Given the description of an element on the screen output the (x, y) to click on. 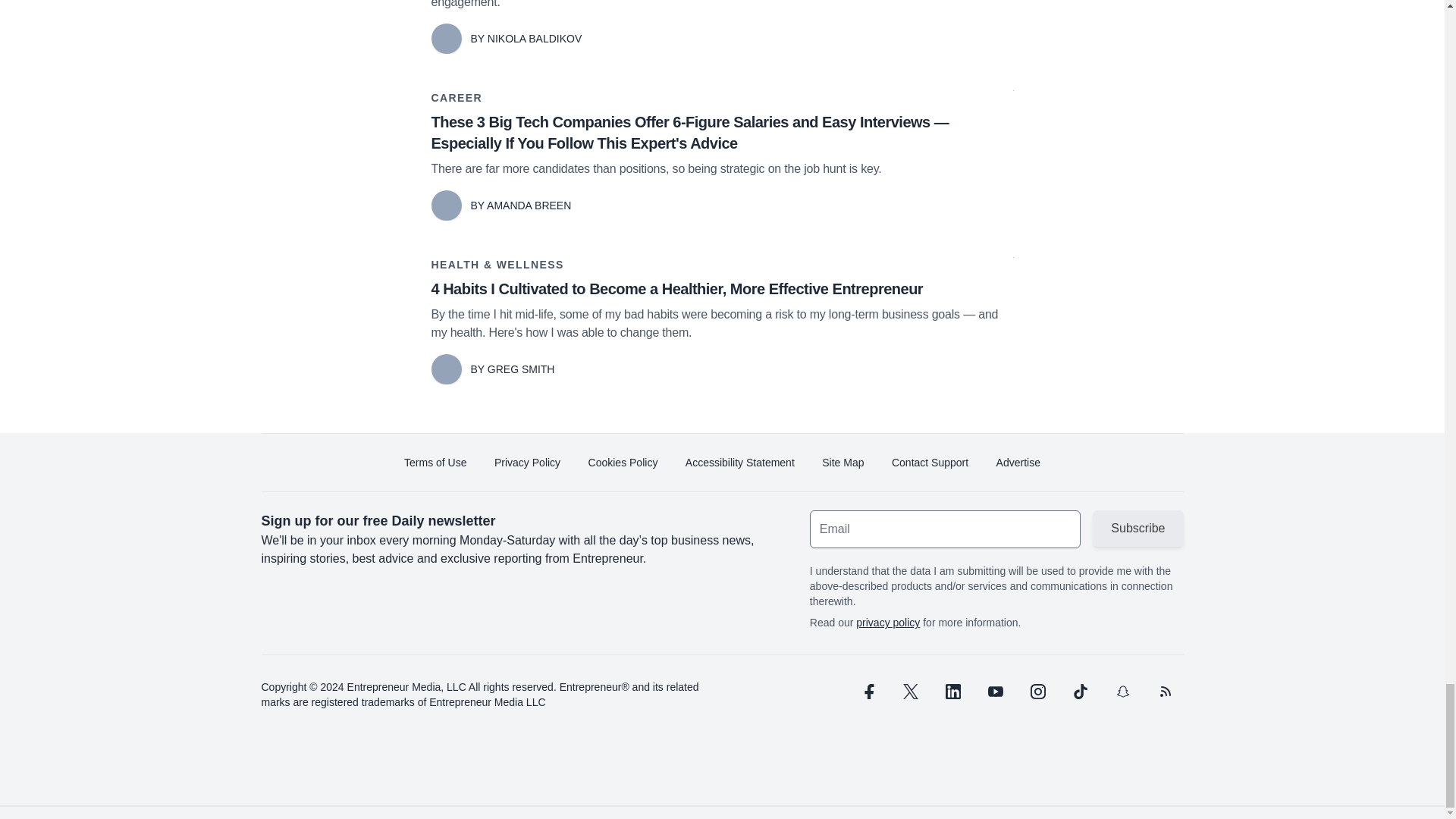
facebook (866, 691)
twitter (909, 691)
instagram (1037, 691)
linkedin (952, 691)
tiktok (1079, 691)
youtube (994, 691)
snapchat (1121, 691)
